Given the description of an element on the screen output the (x, y) to click on. 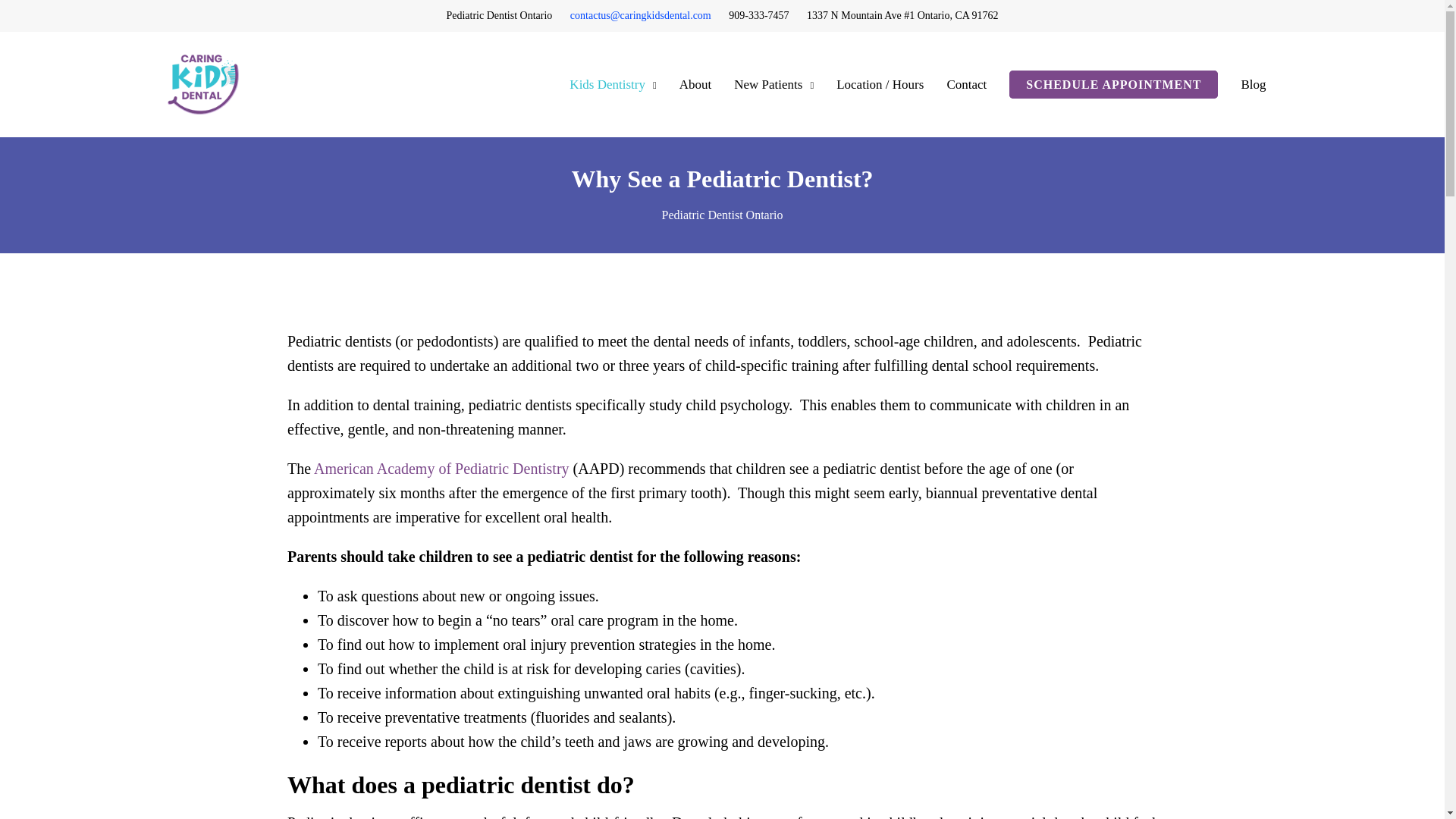
About (695, 83)
909-333-7457 (759, 15)
Kids Dentistry (607, 83)
